Given the description of an element on the screen output the (x, y) to click on. 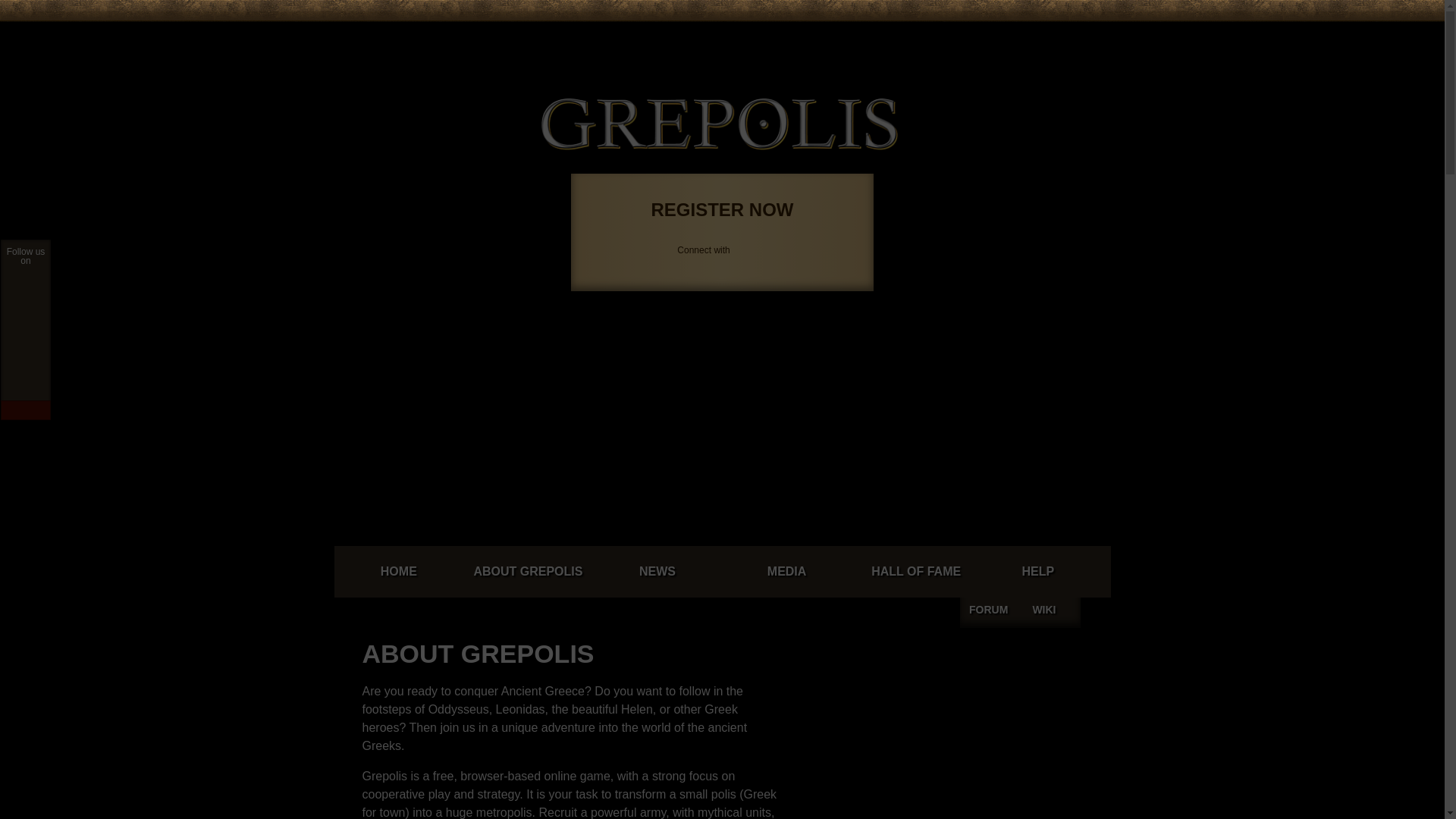
HOME (398, 571)
Connect with Facebook (909, 36)
Google (928, 36)
Grepolis (719, 124)
Facebook (909, 36)
